Given the description of an element on the screen output the (x, y) to click on. 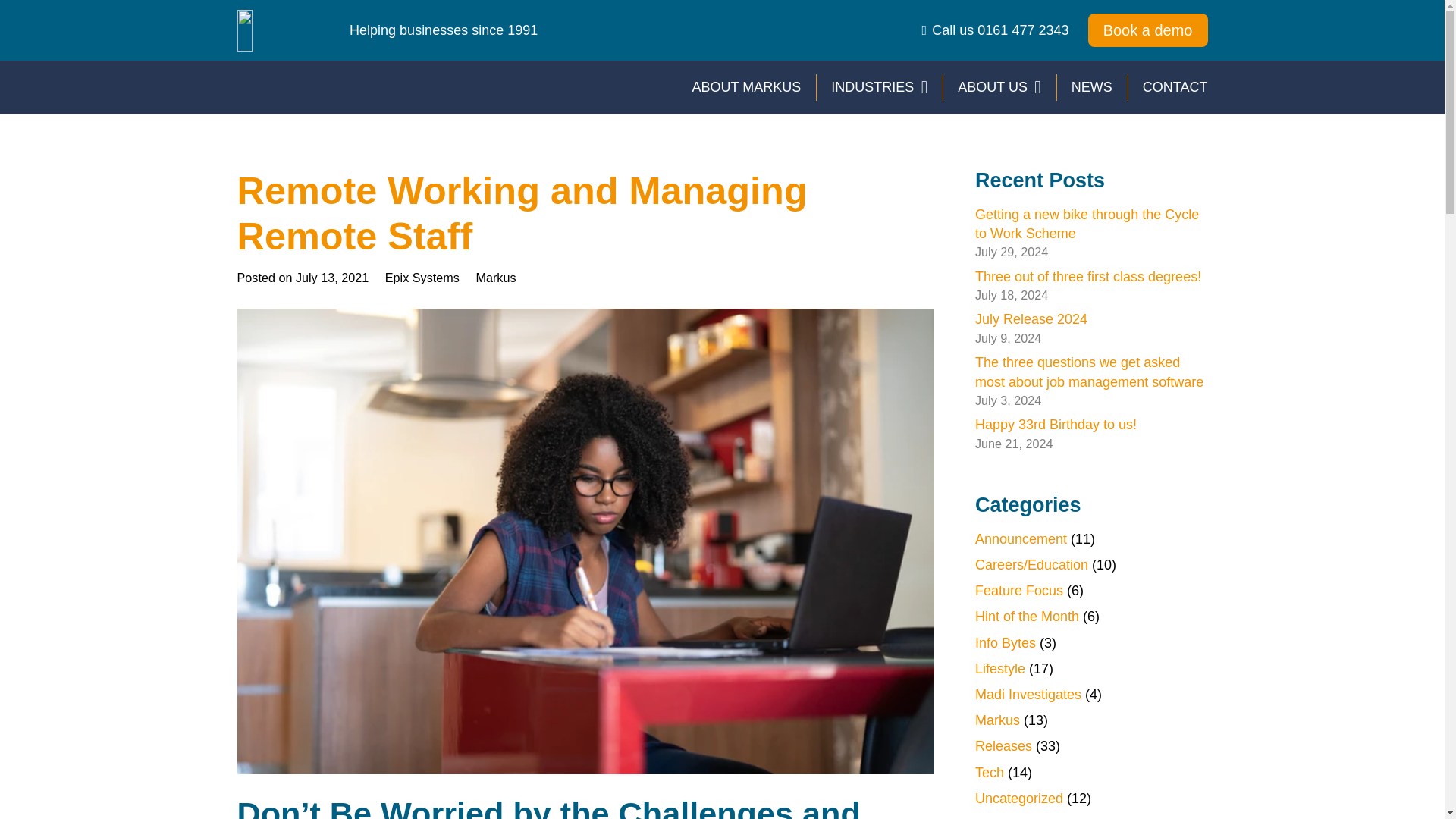
Helping businesses since 1991 (443, 29)
Happy 33rd Birthday to us! (1056, 424)
Lifestyle (1000, 668)
ABOUT MARKUS (746, 86)
July Release 2024 (1031, 319)
Getting a new bike through the Cycle to Work Scheme (1086, 223)
CONTACT (1174, 86)
NEWS (1091, 86)
Feature Focus (1018, 590)
Epix Systems (422, 277)
ABOUT US (999, 86)
Info Bytes (1005, 642)
INDUSTRIES (878, 86)
Book a demo (1147, 29)
